Given the description of an element on the screen output the (x, y) to click on. 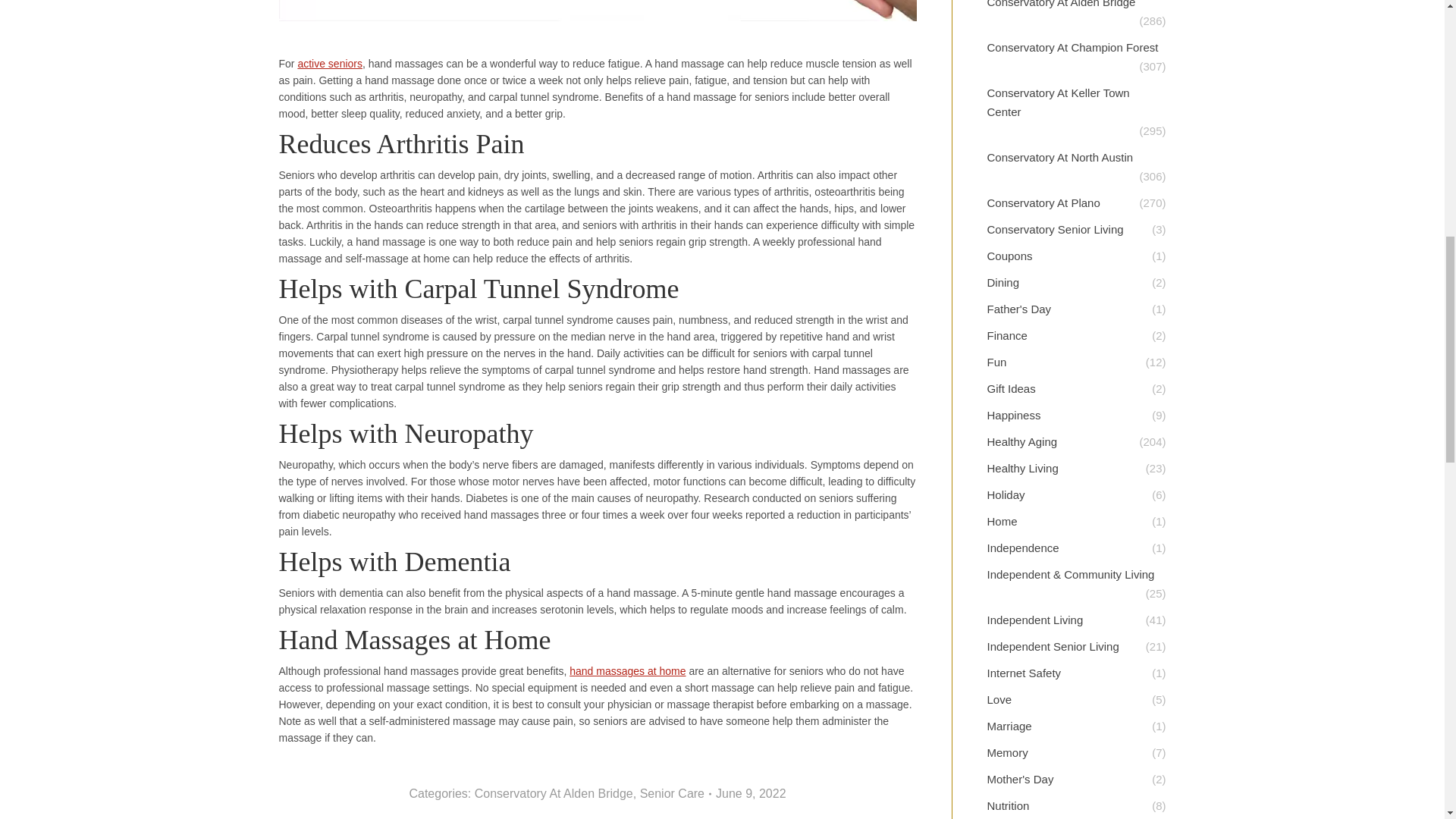
7:48 am (751, 793)
Hand massage closeup (598, 11)
